Given the description of an element on the screen output the (x, y) to click on. 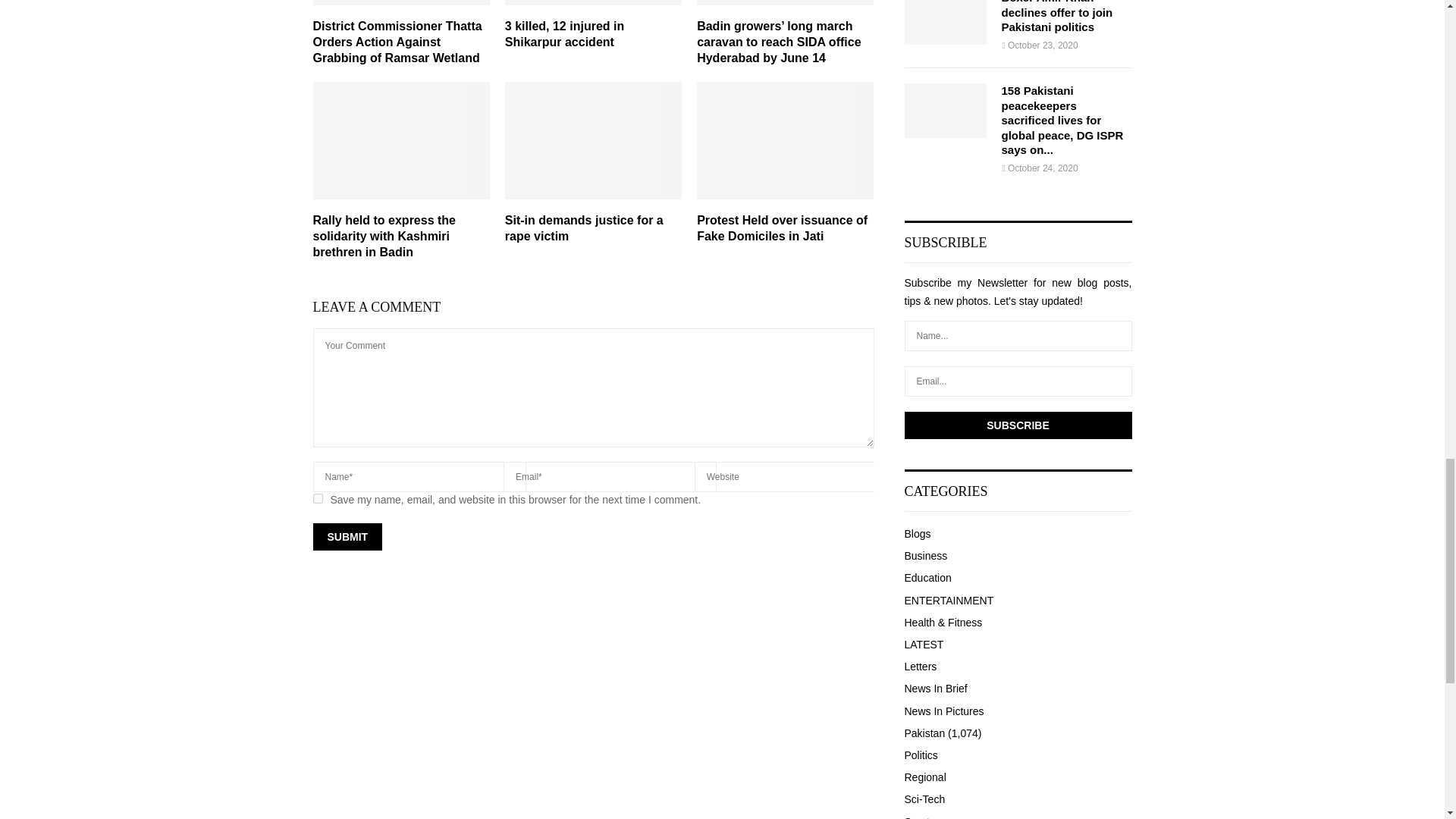
Subscribe (1017, 424)
Submit (347, 536)
yes (317, 498)
